Given the description of an element on the screen output the (x, y) to click on. 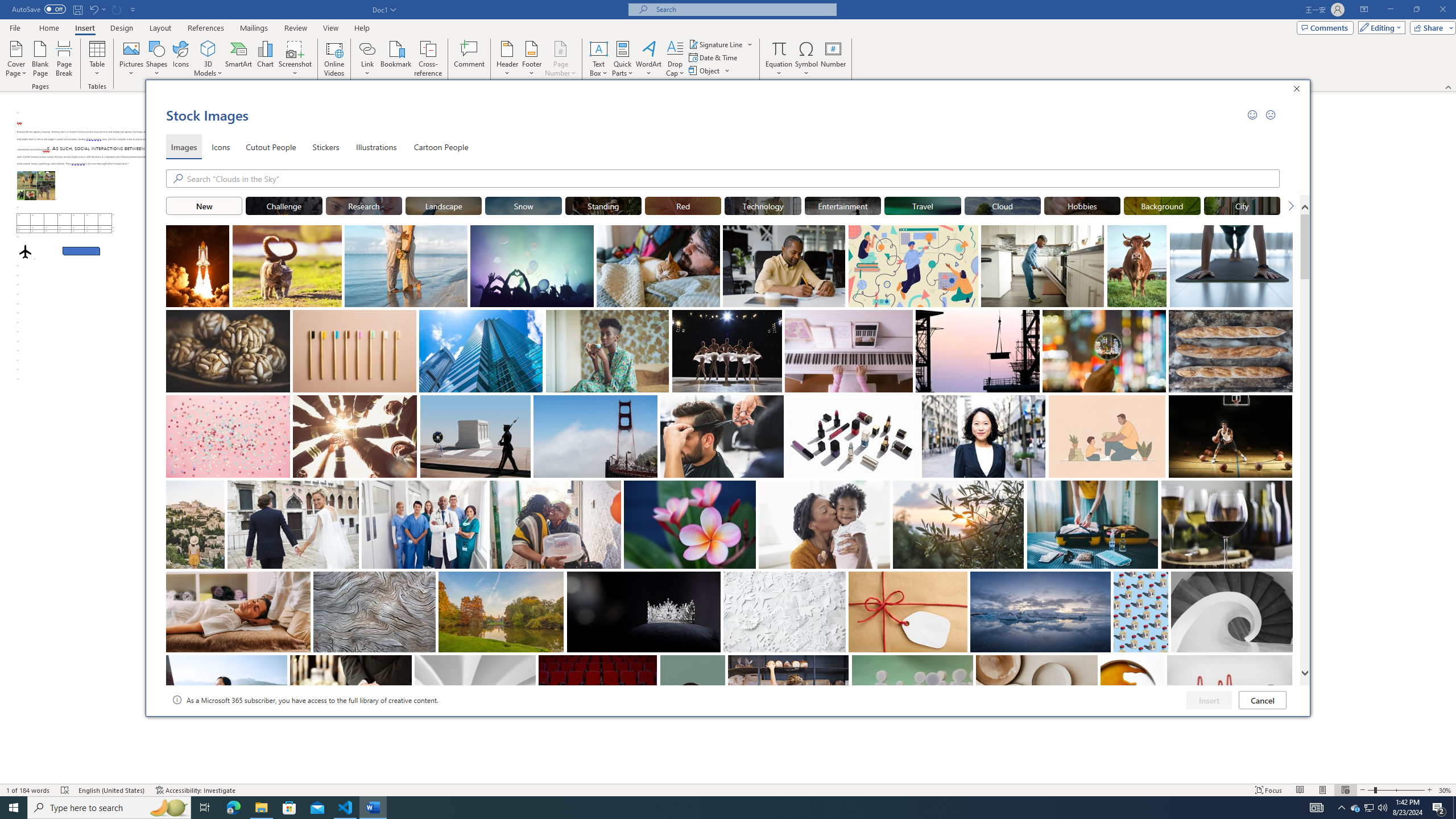
Microsoft Store (289, 807)
Signature Line (721, 44)
Close (1299, 90)
Share (1430, 27)
Online Videos... (333, 58)
AutomationID: 4105 (1355, 807)
Notification Chevron (1316, 807)
